Given the description of an element on the screen output the (x, y) to click on. 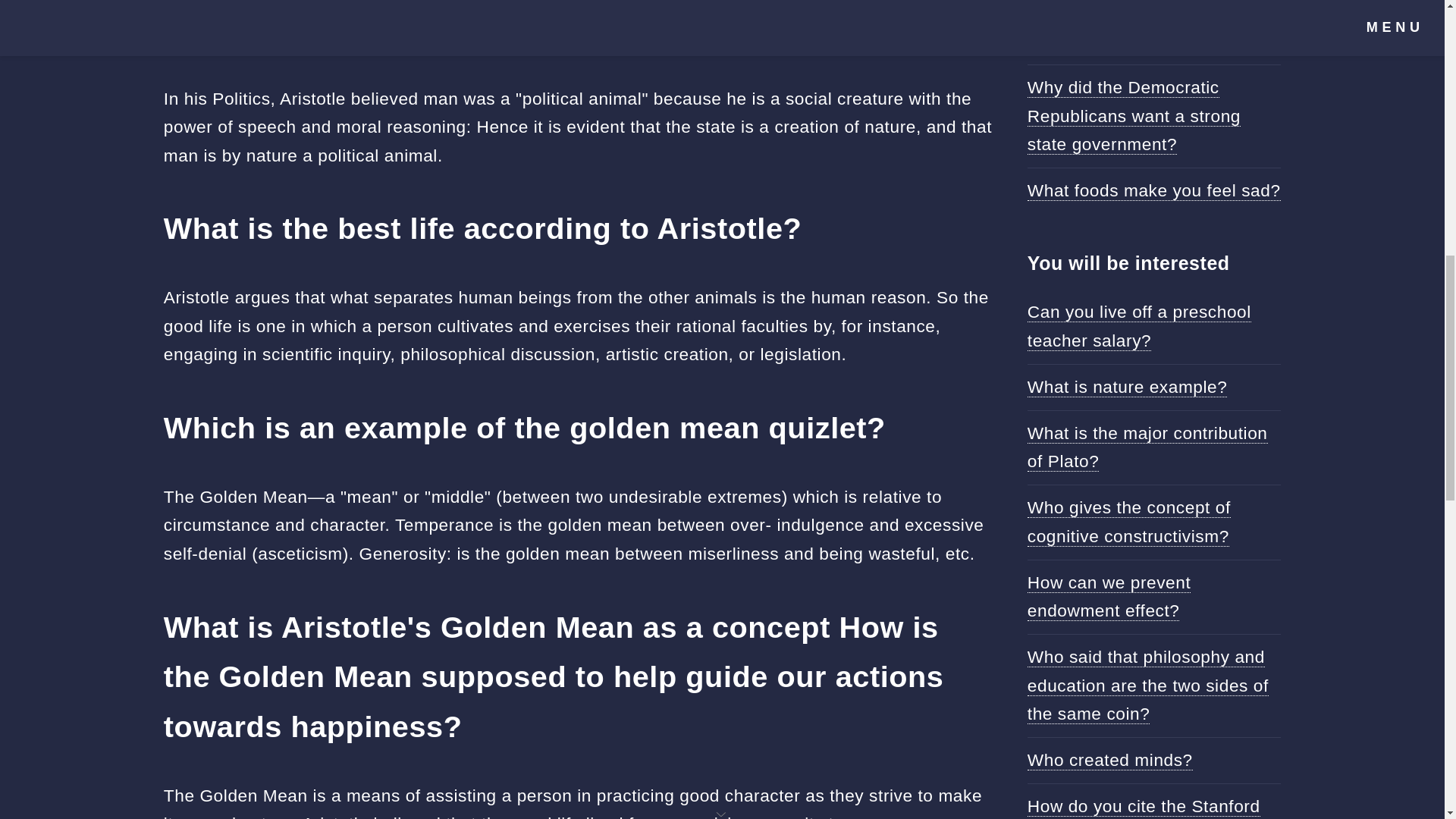
What is nature example? (1127, 386)
Who created minds? (1109, 760)
Who gives the concept of cognitive constructivism? (1128, 521)
How do you cite the Stanford Encyclopedia of Philosophy? (1143, 807)
Can you live off a preschool teacher salary? (1138, 326)
How do you write a creative introduction? (1138, 27)
What foods make you feel sad? (1154, 190)
How can we prevent endowment effect? (1109, 596)
